Given the description of an element on the screen output the (x, y) to click on. 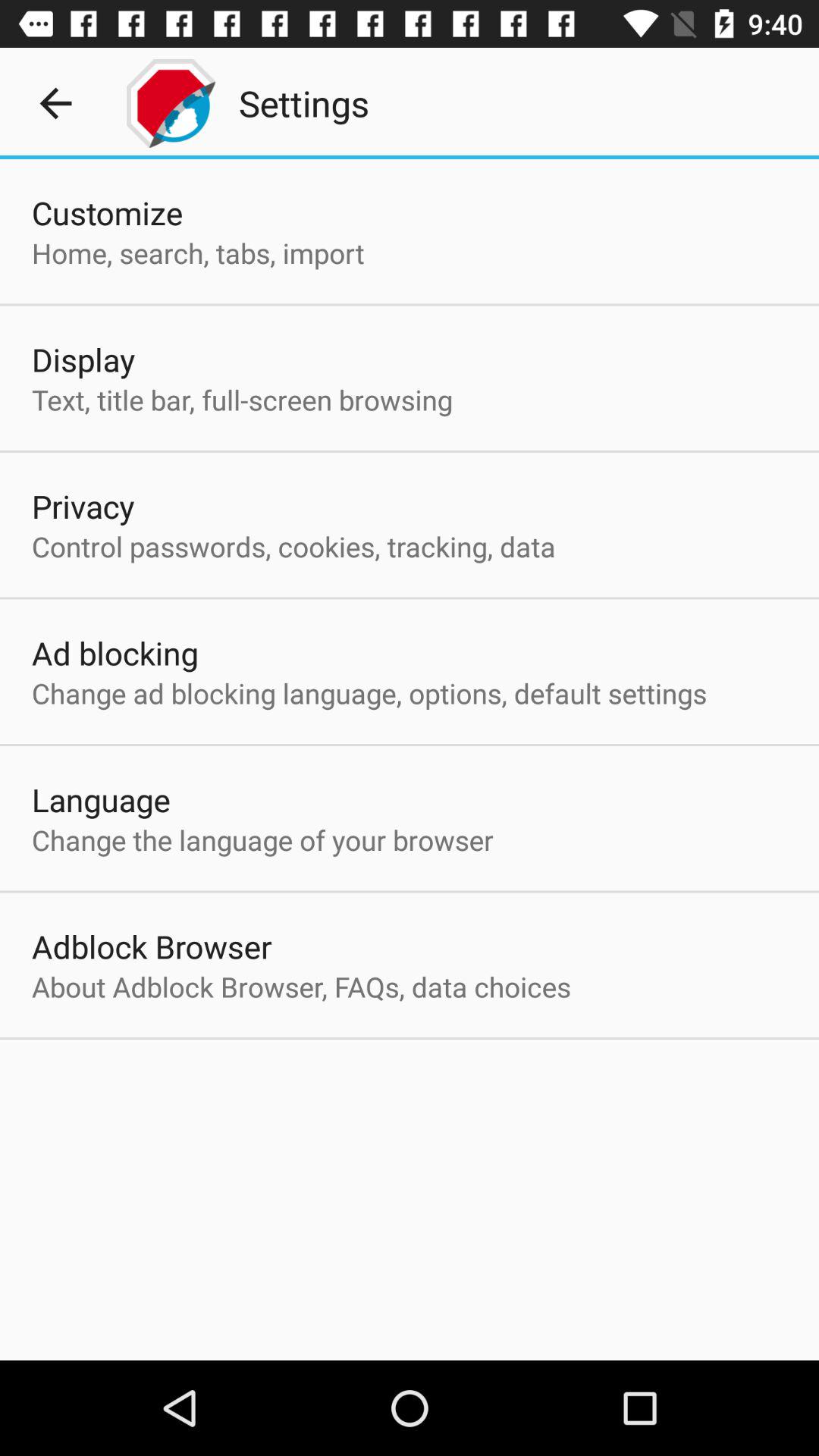
select the app above text title bar (83, 359)
